Given the description of an element on the screen output the (x, y) to click on. 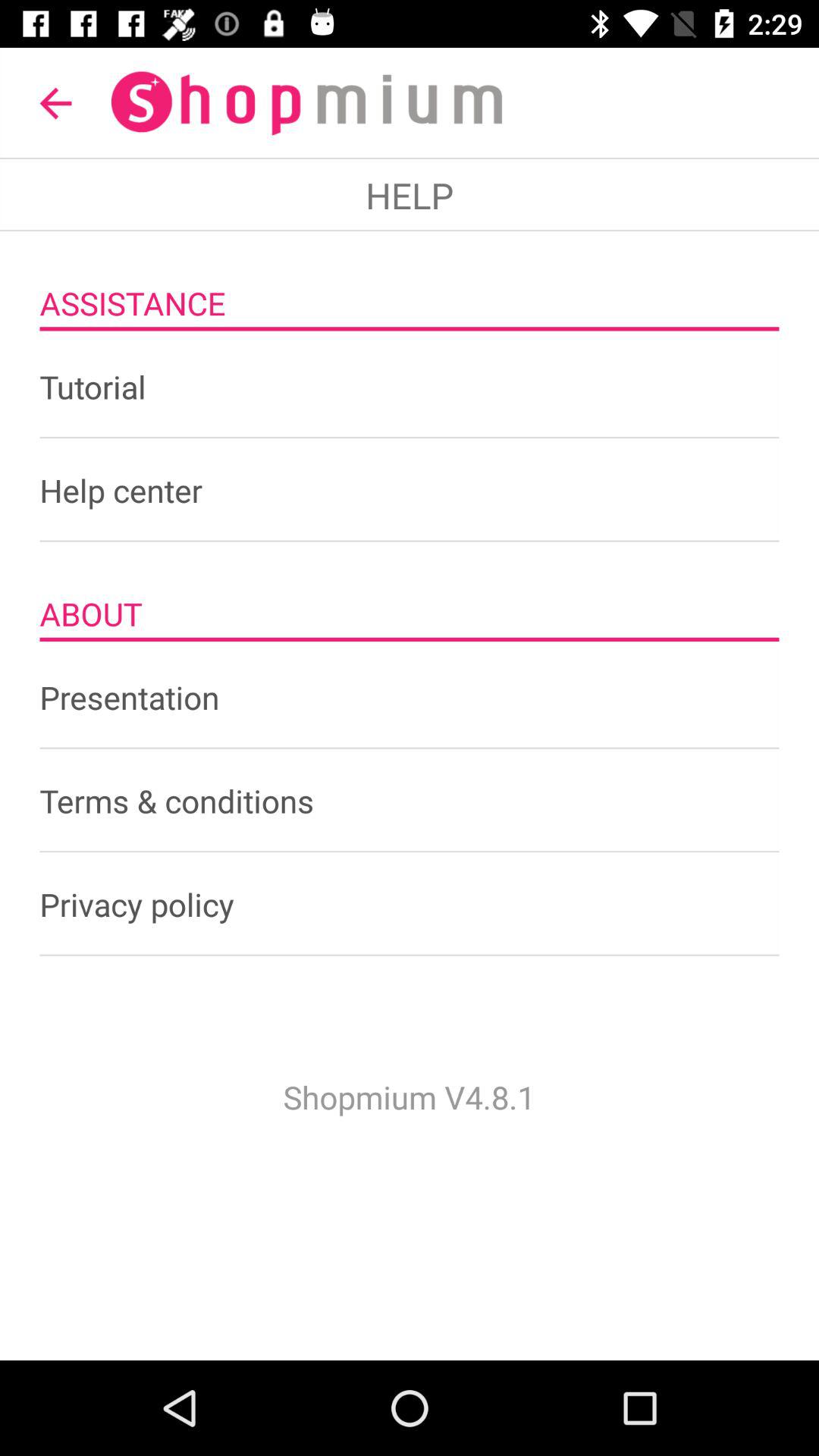
turn off item below the assistance icon (409, 386)
